Given the description of an element on the screen output the (x, y) to click on. 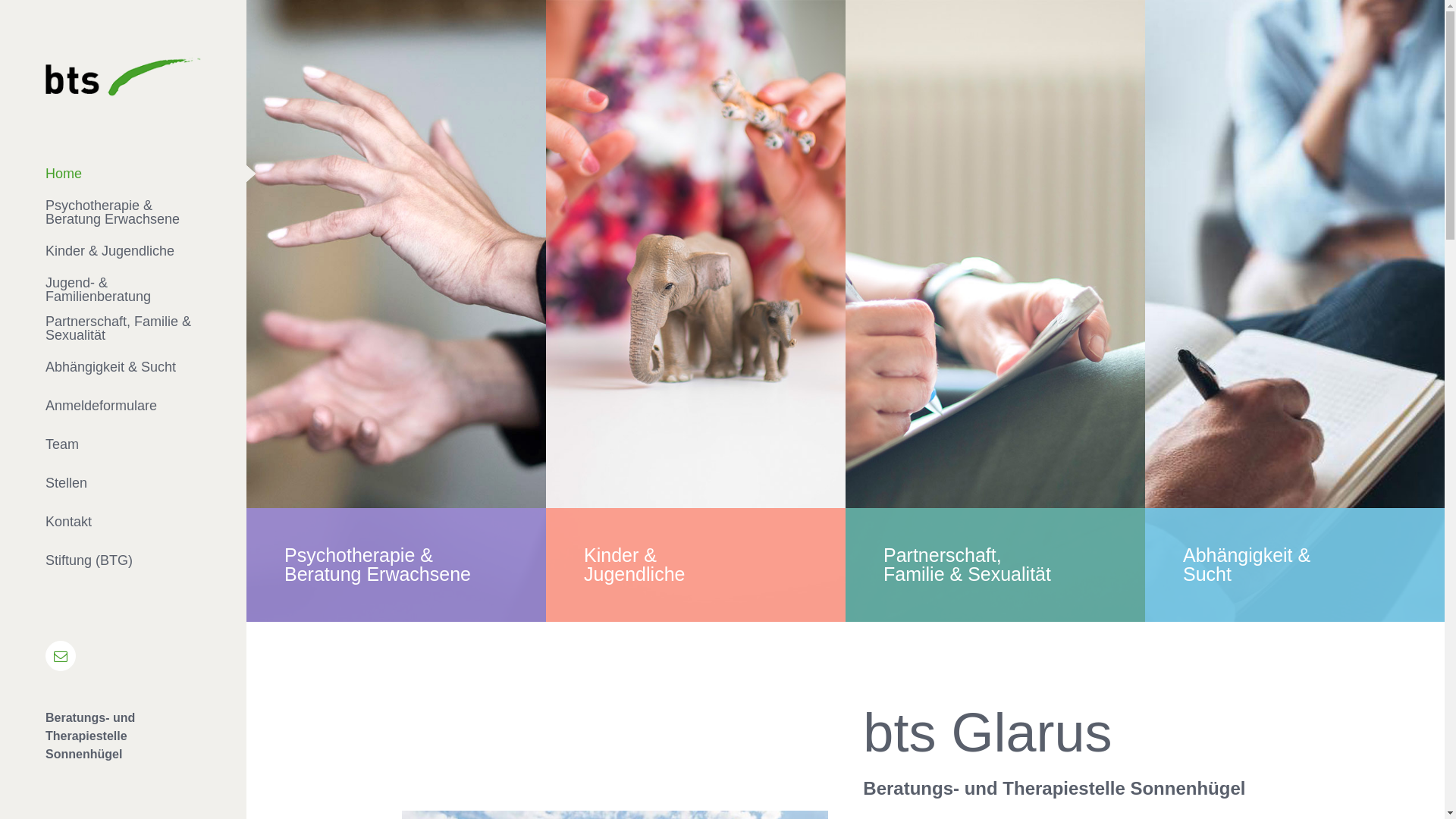
Stiftung (BTG) Element type: text (123, 560)
Psychotherapie & Beratung Erwachsene Element type: text (123, 212)
Kinder & Jugendliche Element type: text (123, 251)
Kontakt Element type: text (123, 521)
Home Element type: text (123, 173)
E-Mail Element type: text (60, 655)
Anmeldeformulare Element type: text (123, 405)
Stellen Element type: text (123, 483)
Team Element type: text (123, 444)
Jugend- & Familienberatung Element type: text (123, 289)
